Given the description of an element on the screen output the (x, y) to click on. 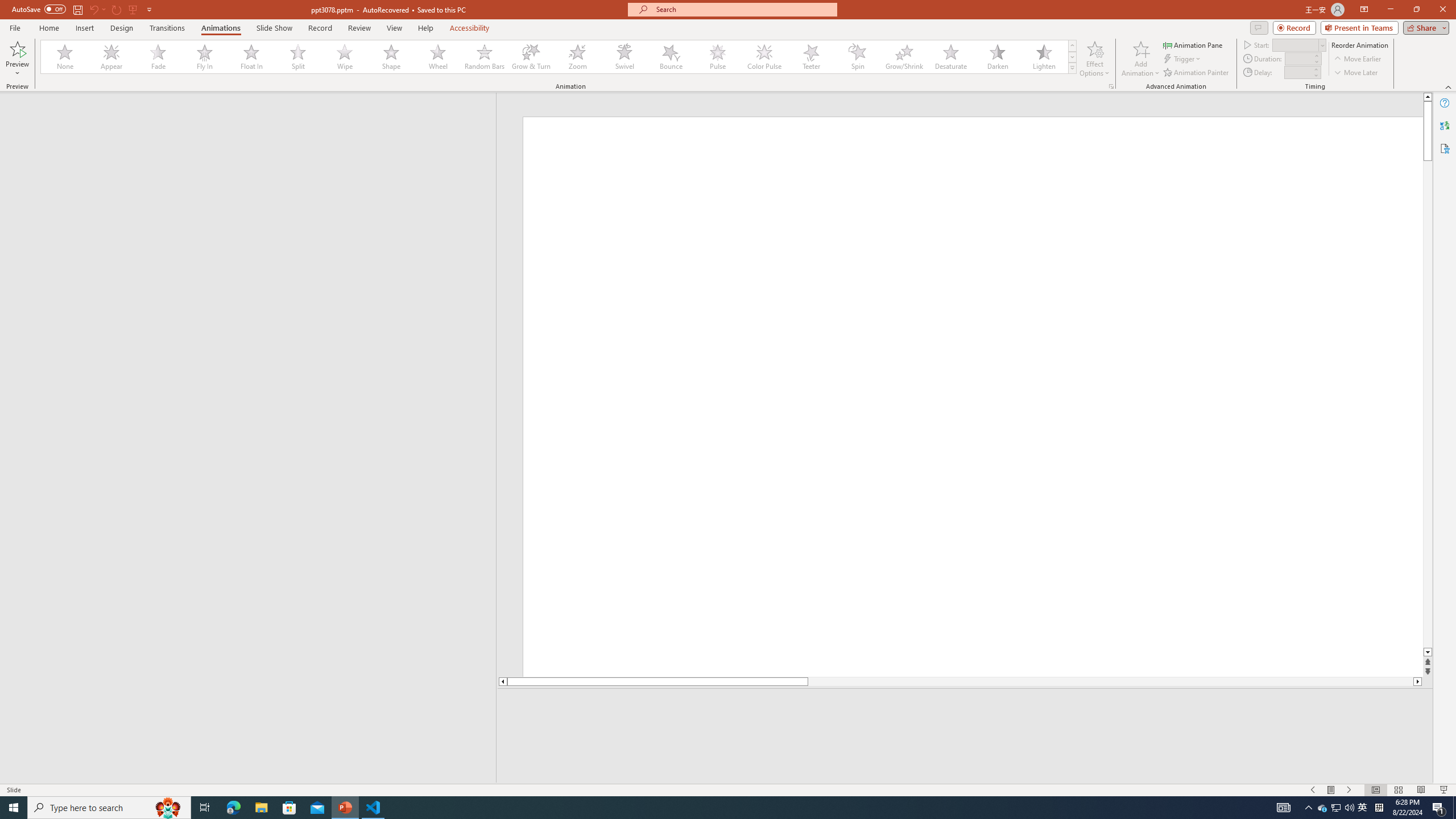
Random Bars (484, 56)
Wipe (344, 56)
Menu On (1331, 790)
Move Later (1355, 72)
